Given the description of an element on the screen output the (x, y) to click on. 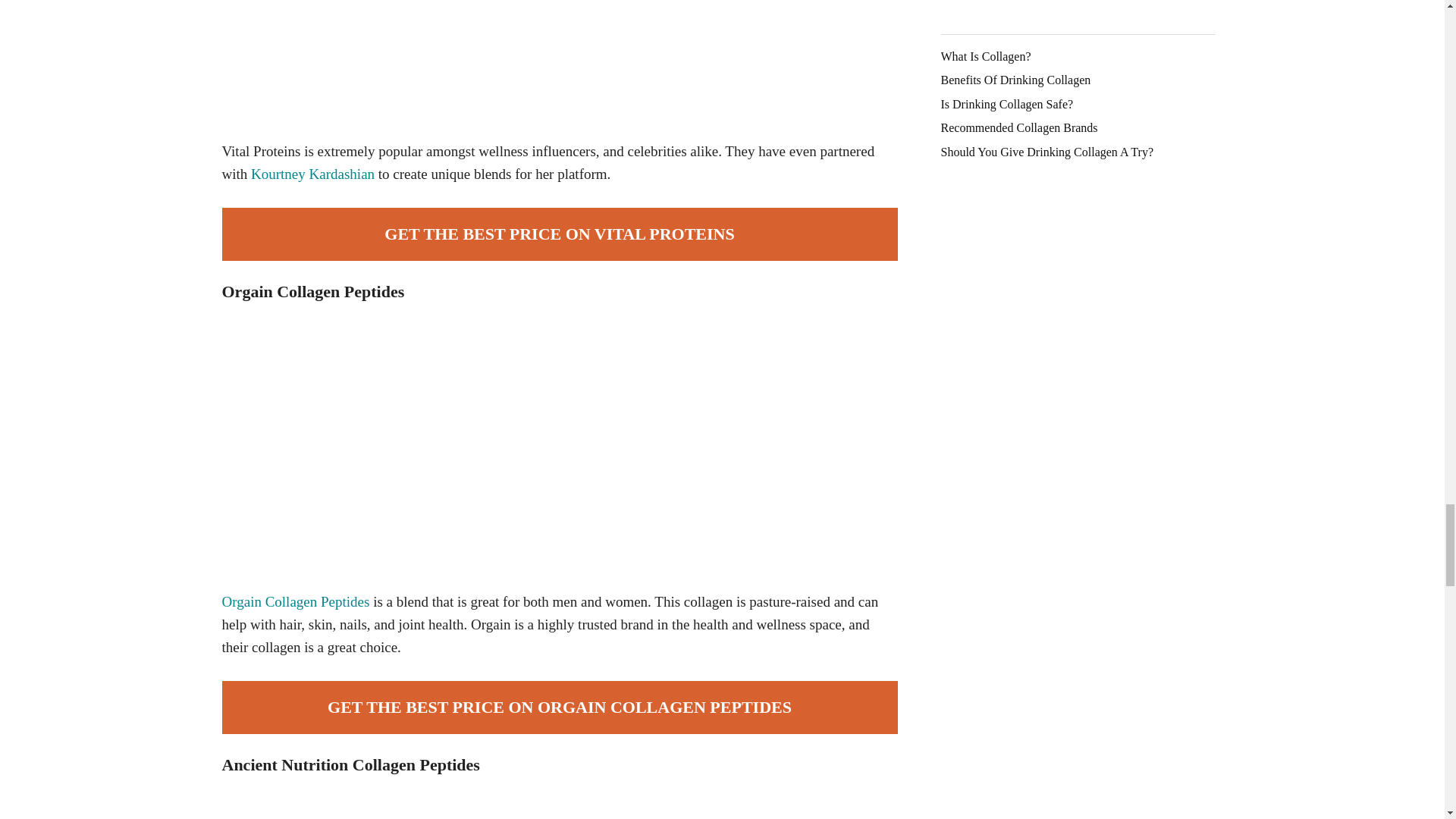
Kourtney Kardashian (312, 173)
